Given the description of an element on the screen output the (x, y) to click on. 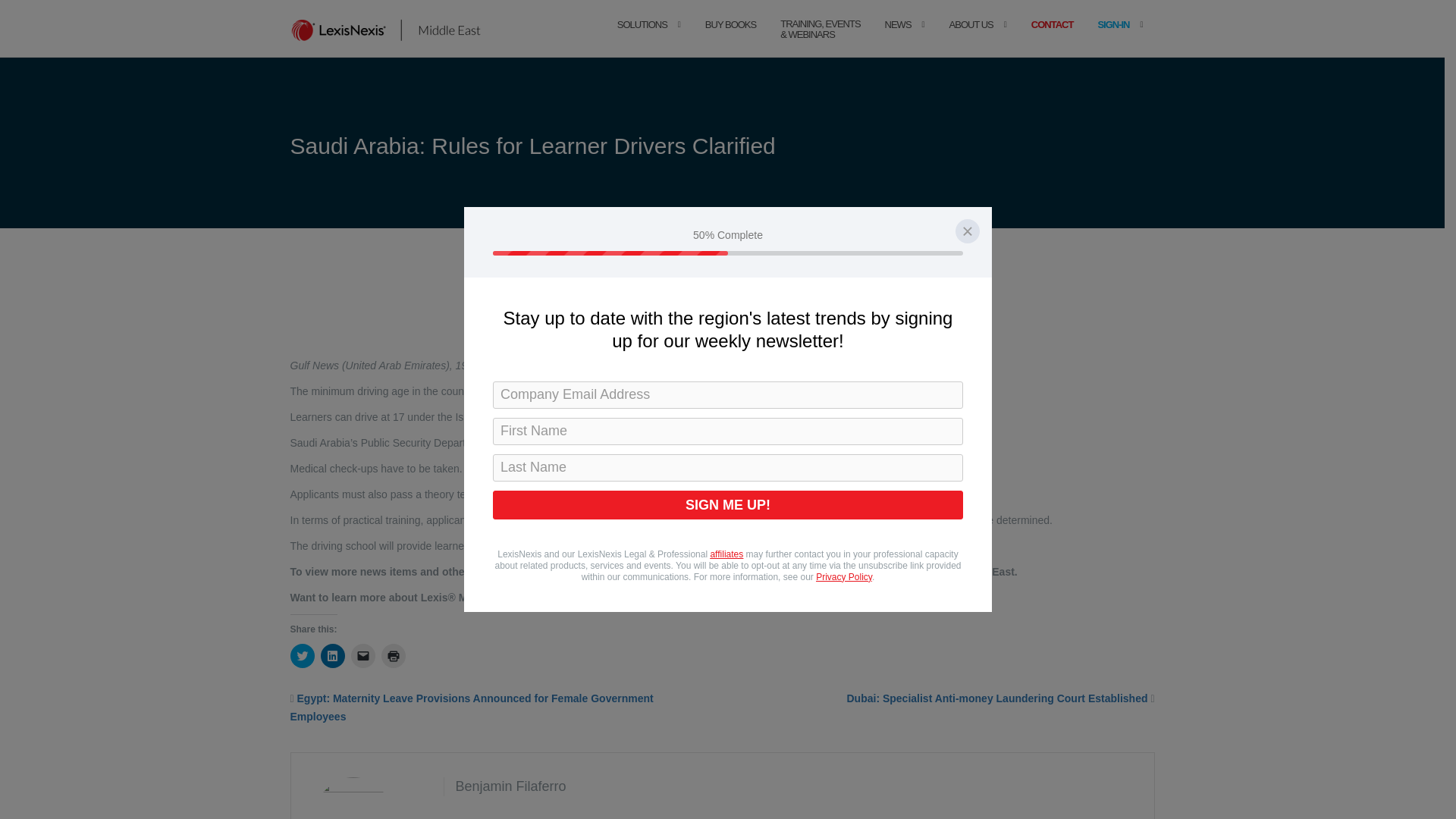
SOLUTIONS (641, 40)
Buy Books (729, 40)
SIGN-IN (1113, 40)
BUY BOOKS (729, 40)
NEWS (898, 40)
CONTACT (1052, 40)
ABOUT US (970, 40)
News (898, 40)
Solutions (641, 40)
